Given the description of an element on the screen output the (x, y) to click on. 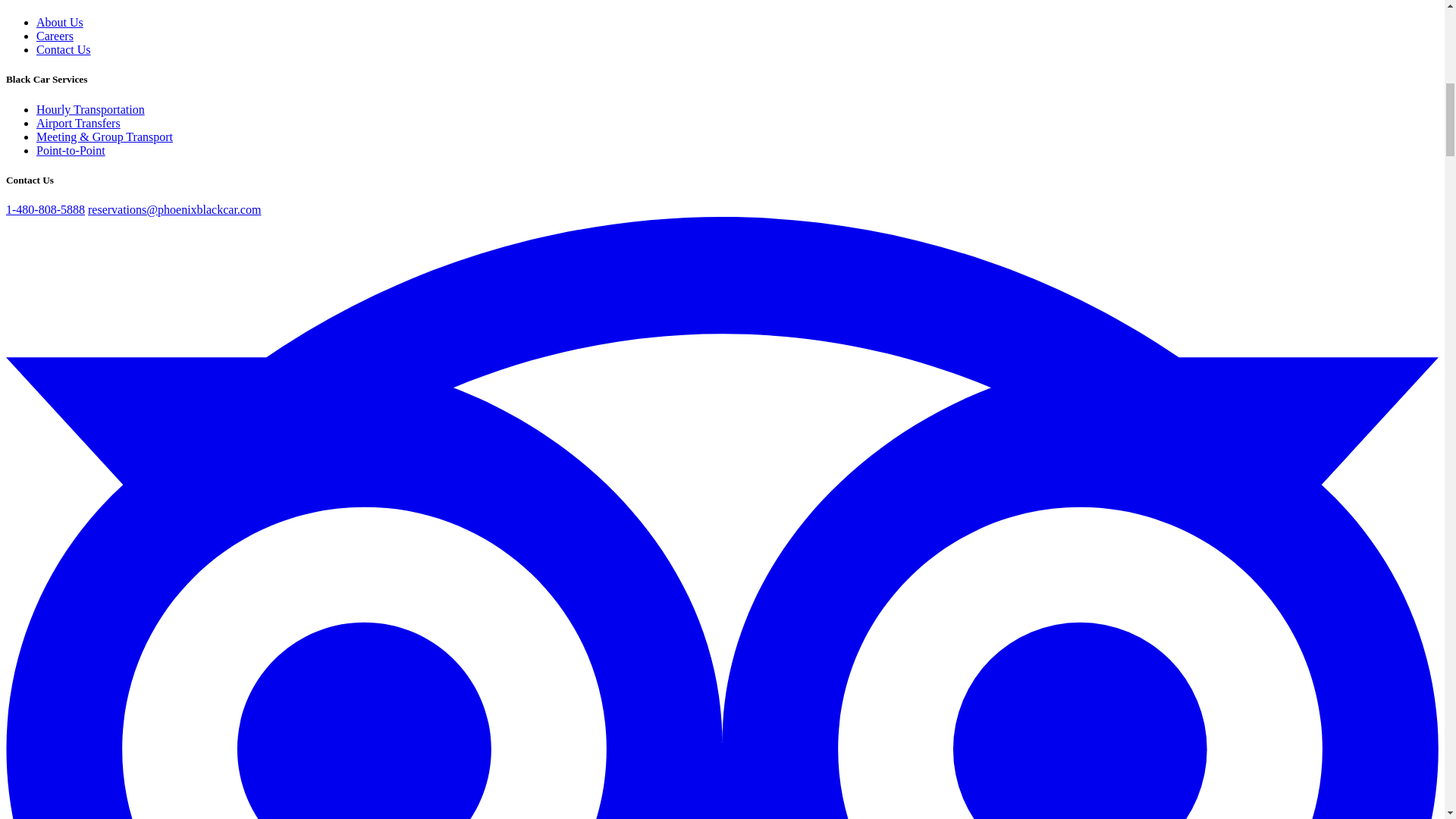
Airport Transfers (78, 123)
1-480-808-5888 (44, 209)
Point-to-Point (70, 150)
Contact Us (63, 49)
About Us (59, 21)
Hourly Transportation (90, 109)
Careers (55, 35)
